Given the description of an element on the screen output the (x, y) to click on. 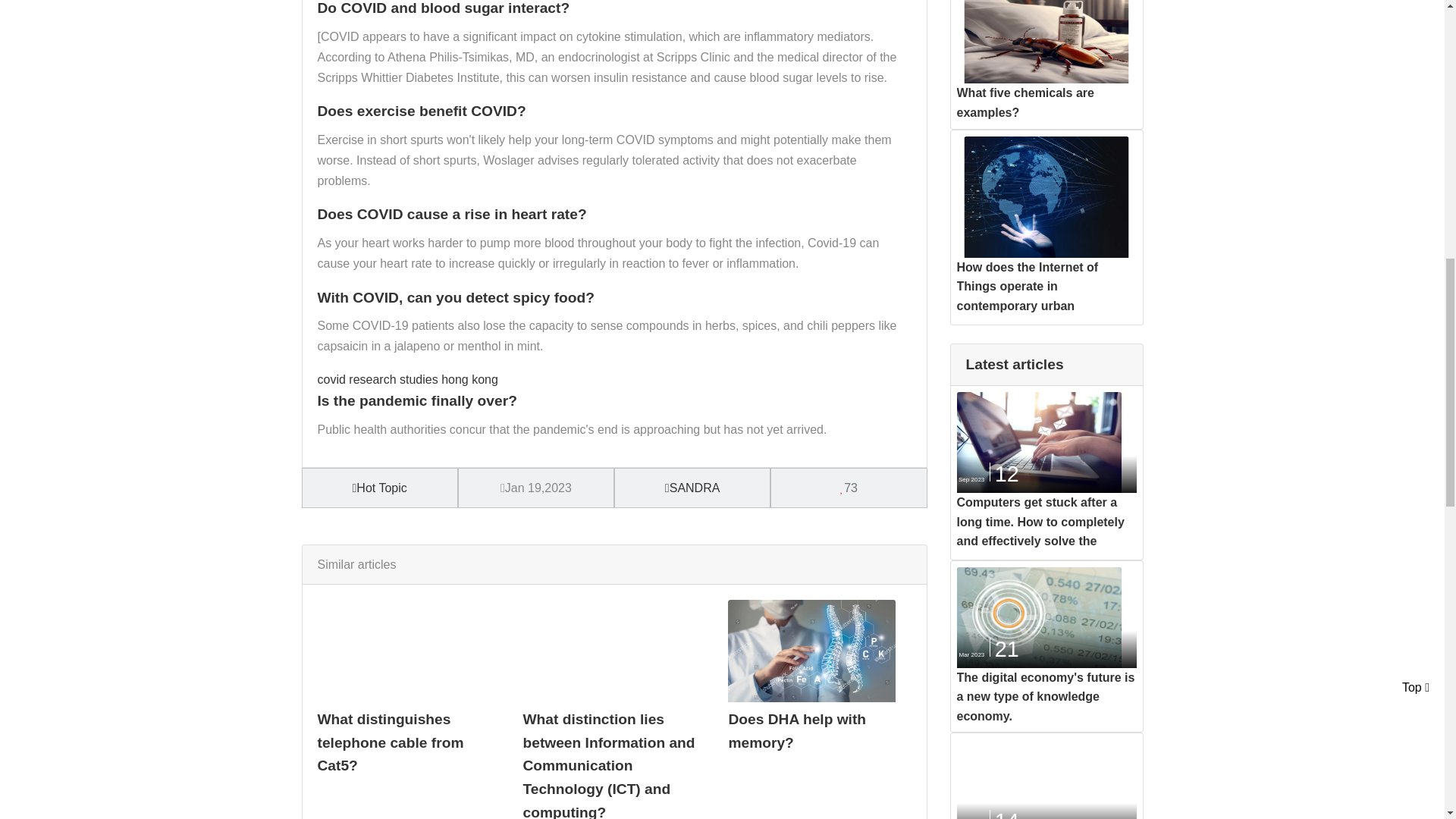
Does DHA help with memory? (797, 731)
Jan 19,2023 (536, 487)
SANDRA (692, 487)
covid research studies hong kong (407, 379)
Hot Topic (379, 487)
What distinguishes telephone cable from Cat5? (390, 742)
What five chemicals are examples? (1025, 102)
